Given the description of an element on the screen output the (x, y) to click on. 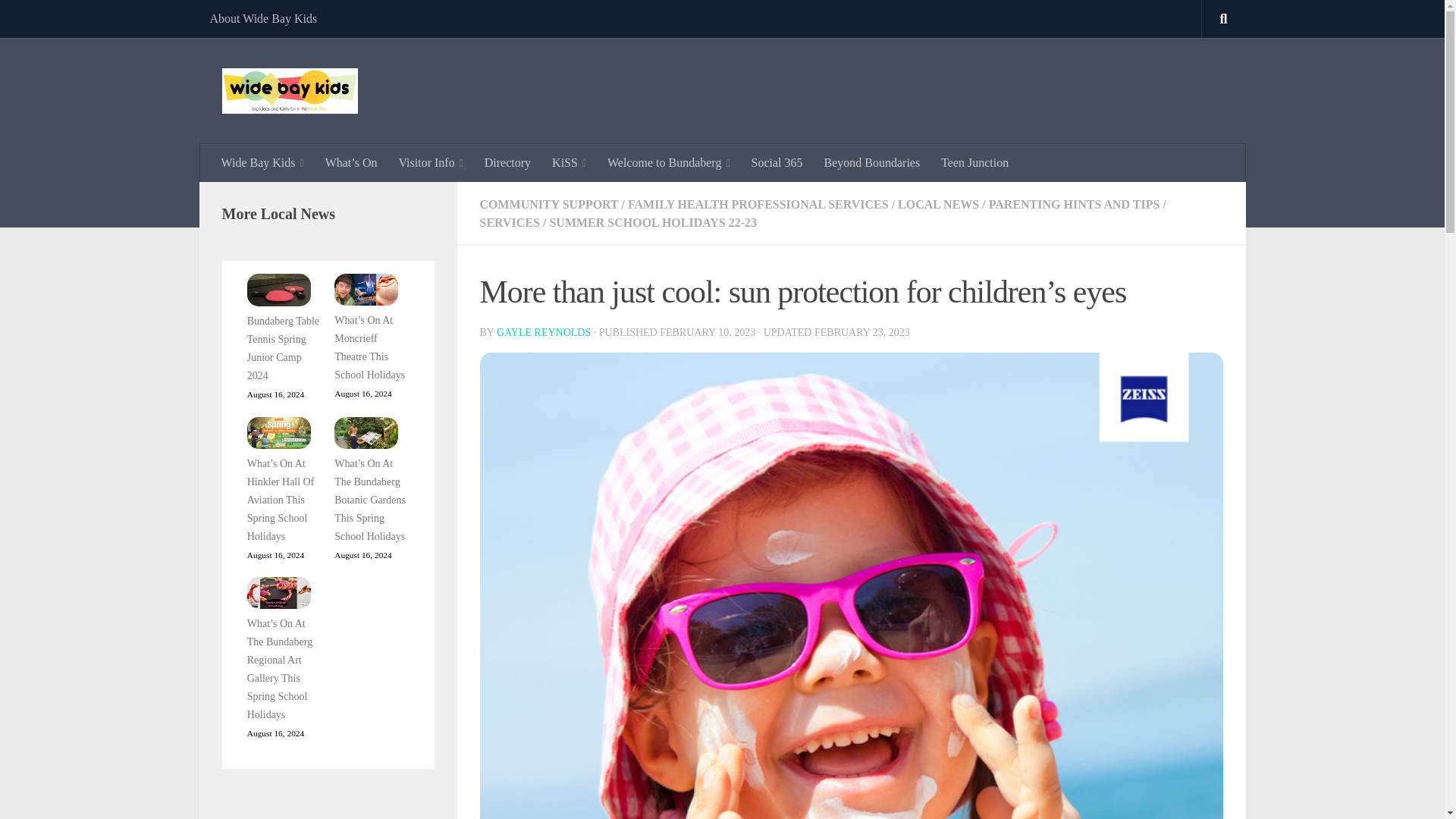
Wide Bay Kids (262, 162)
Posts by Gayle Reynolds (543, 332)
Visitor Info (431, 162)
About Wide Bay Kids (262, 18)
Things to Do (431, 162)
Skip to content (59, 20)
Bundaberg Table Tennis Spring Junior Camp 2024 2 (279, 289)
